Given the description of an element on the screen output the (x, y) to click on. 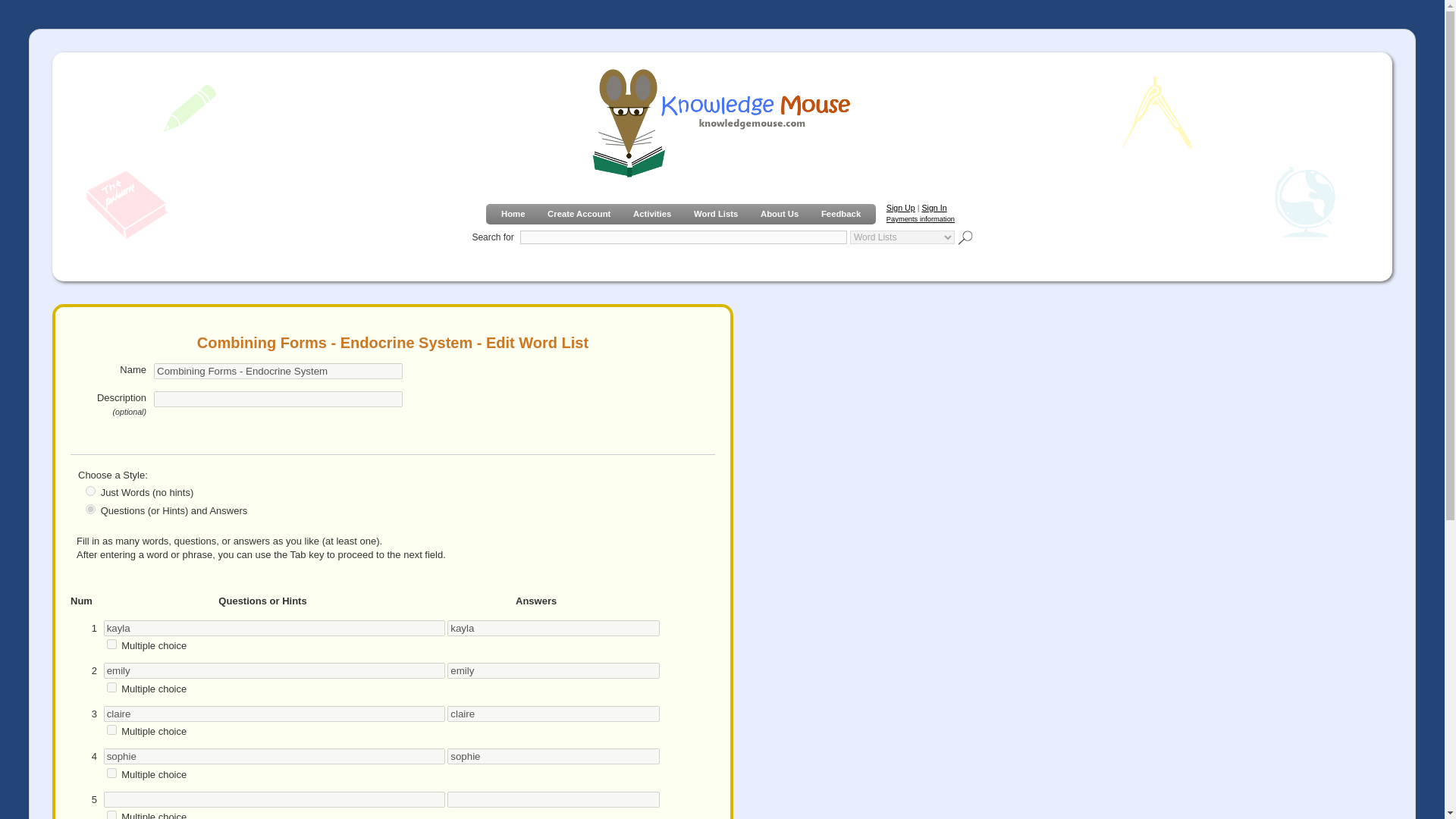
Create Account (578, 213)
1 (111, 687)
Payments information (920, 218)
About Us (779, 213)
sophie (552, 756)
Word Lists (715, 213)
Combining Forms - Endocrine System (278, 371)
Sign In (933, 207)
Home (513, 213)
claire (552, 713)
kayla (552, 627)
emily (274, 670)
Feedback (840, 213)
1 (111, 644)
1 (111, 773)
